Given the description of an element on the screen output the (x, y) to click on. 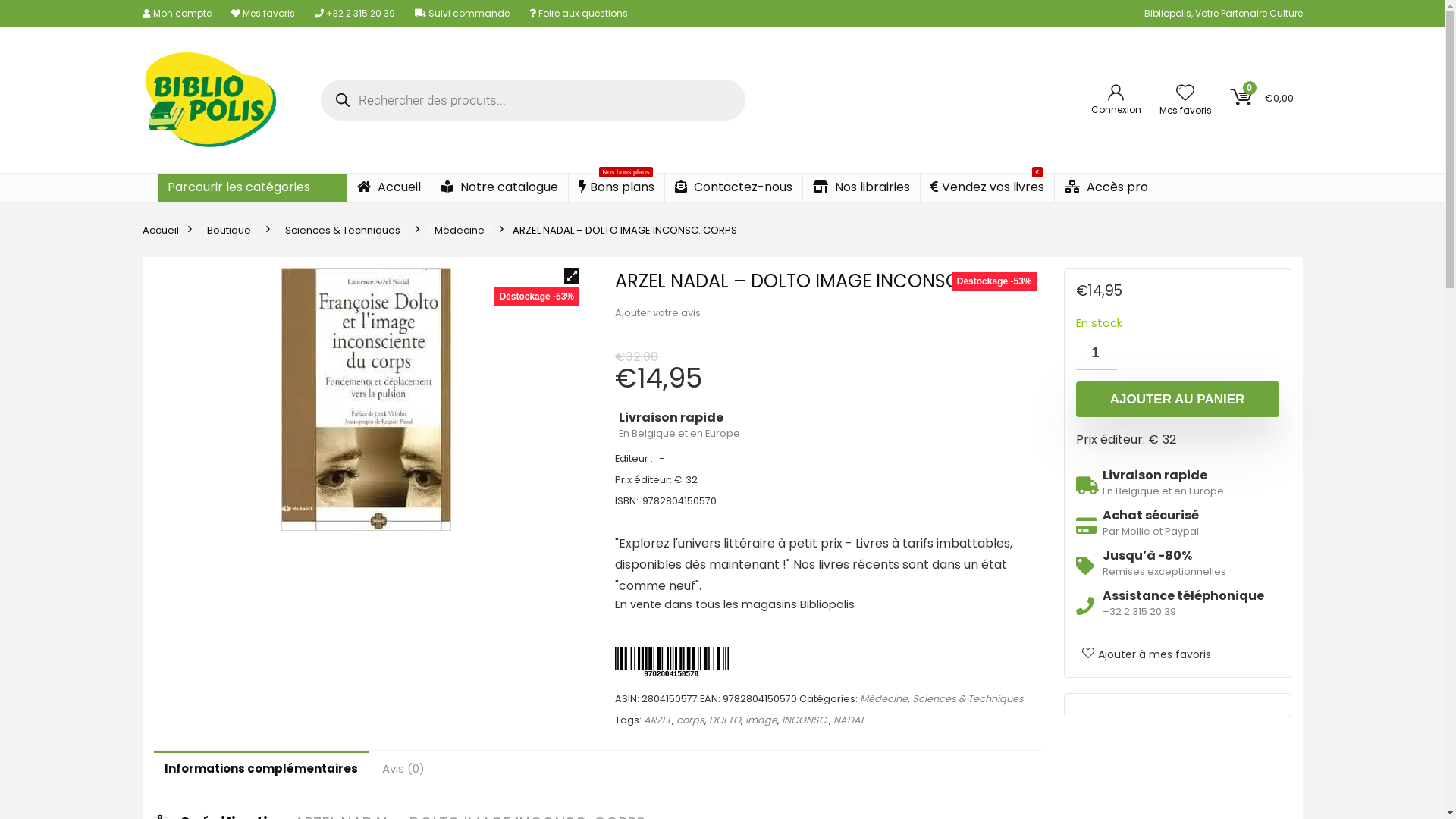
Contactez-nous Element type: text (732, 187)
Nos librairies Element type: text (860, 187)
NADAL Element type: text (849, 719)
image Element type: text (761, 719)
DOLTO Element type: text (724, 719)
corps Element type: text (690, 719)
ARZEL Element type: text (657, 719)
Boutique Element type: text (228, 230)
Sciences & Techniques Element type: text (342, 230)
Accueil Element type: text (160, 229)
Avis (0) Element type: text (403, 768)
Nos bons plans
Bons plans Element type: text (616, 187)
Foire aux questions Element type: text (578, 12)
Mon compte Element type: text (176, 12)
AJOUTER AU PANIER Element type: text (1176, 399)
Notre catalogue Element type: text (498, 187)
Suivi commande Element type: text (461, 12)
arzel-nadal-dolto-image-inconsc-corps Element type: hover (366, 399)
INCONSC. Element type: text (804, 719)
+32 2 315 20 39 Element type: text (353, 12)
Mes favoris Element type: text (262, 12)
Accueil Element type: text (388, 187)
Sciences & Techniques Element type: text (967, 698)
